Given the description of an element on the screen output the (x, y) to click on. 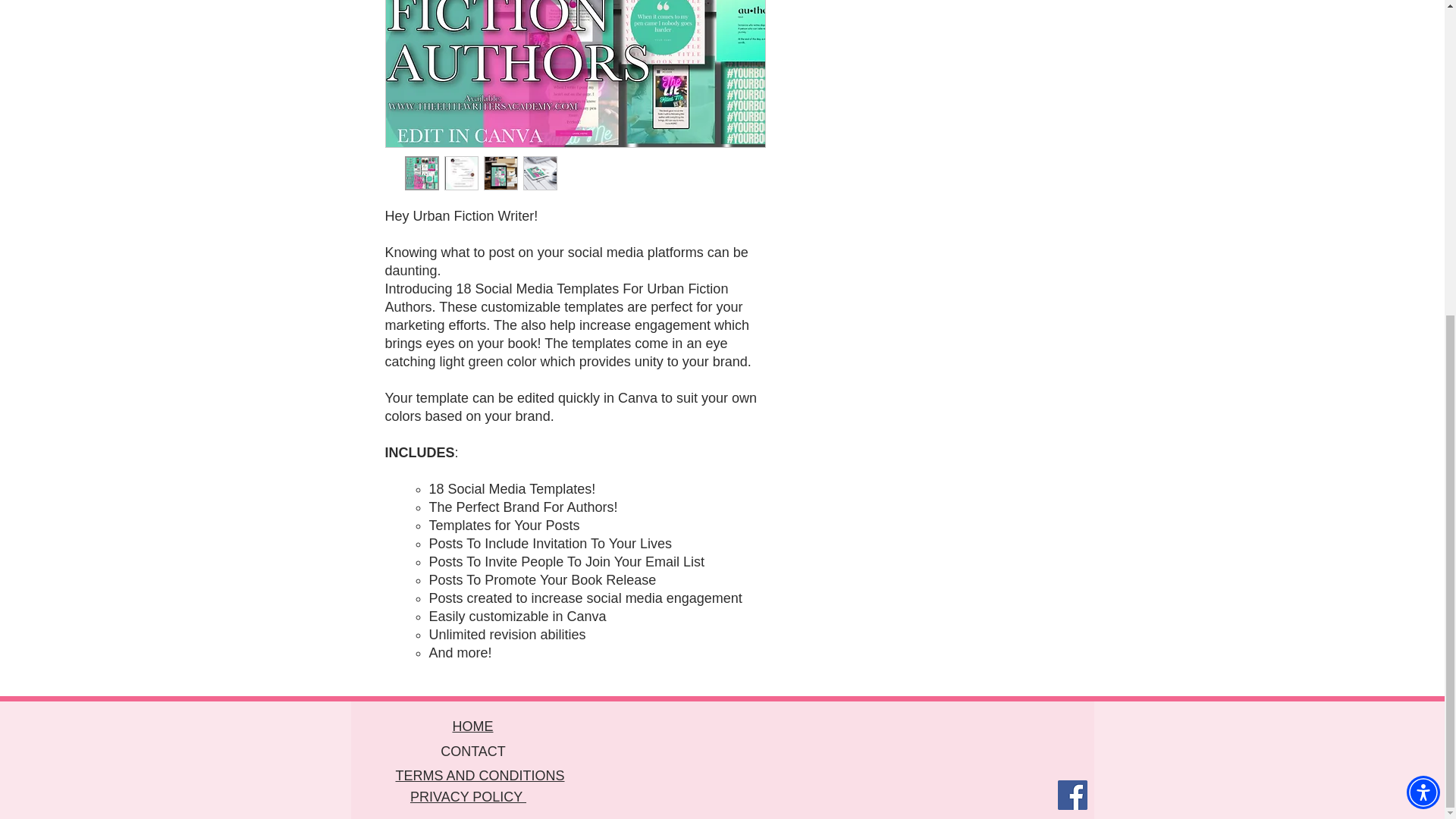
HOME (472, 726)
TERMS AND CONDITIONS (479, 775)
PRIVACY POLICY  (467, 796)
Accessibility Menu (1422, 287)
CONTACT (473, 751)
